Given the description of an element on the screen output the (x, y) to click on. 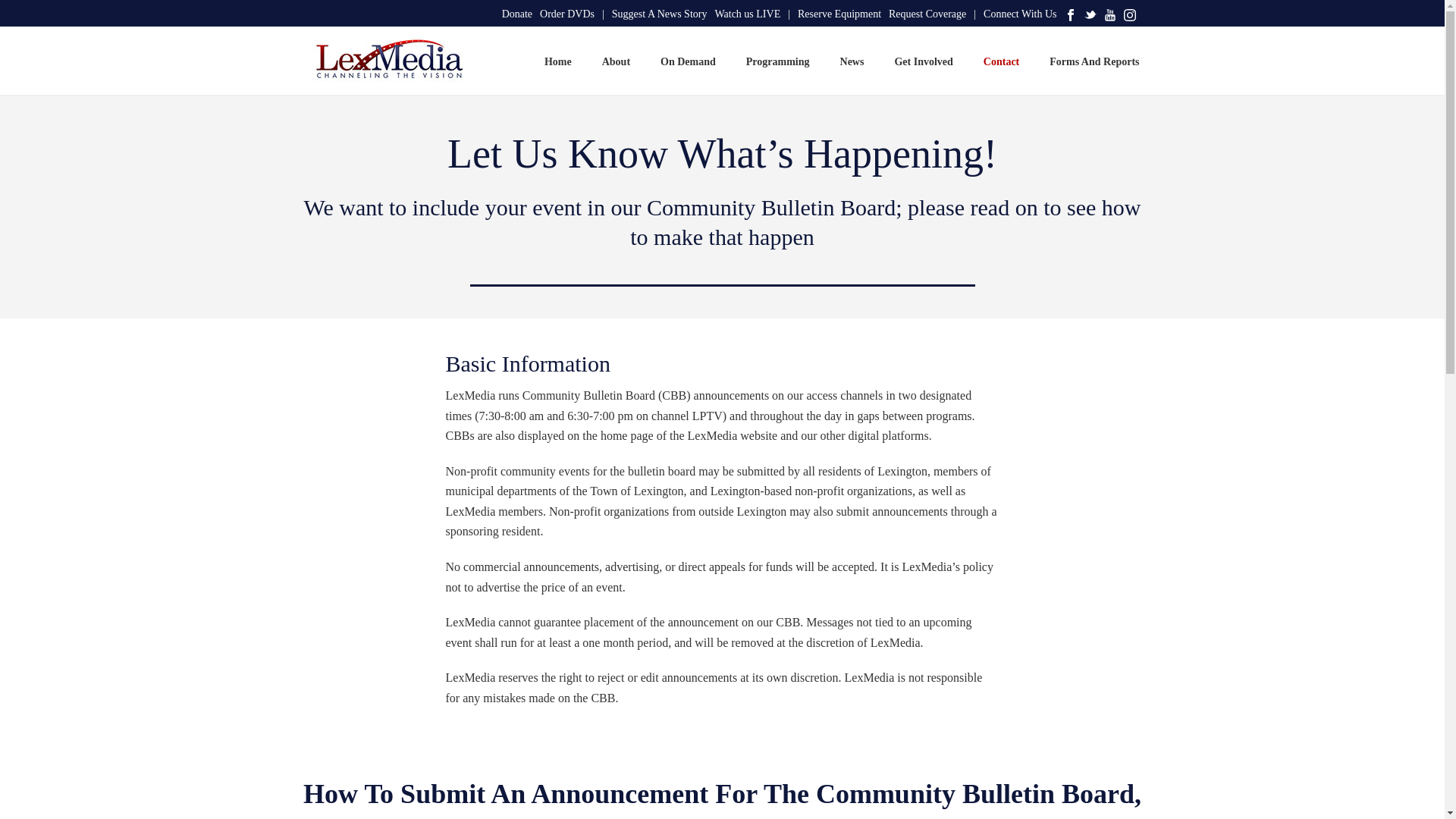
Order DVDs (572, 13)
On Demand (687, 60)
Forms And Reports (1093, 60)
Donate (517, 13)
Get Involved (923, 60)
Contact (1000, 60)
Channeling the Vision (385, 60)
On Demand (687, 60)
Reserve Equipment (838, 13)
Programming (777, 60)
